Given the description of an element on the screen output the (x, y) to click on. 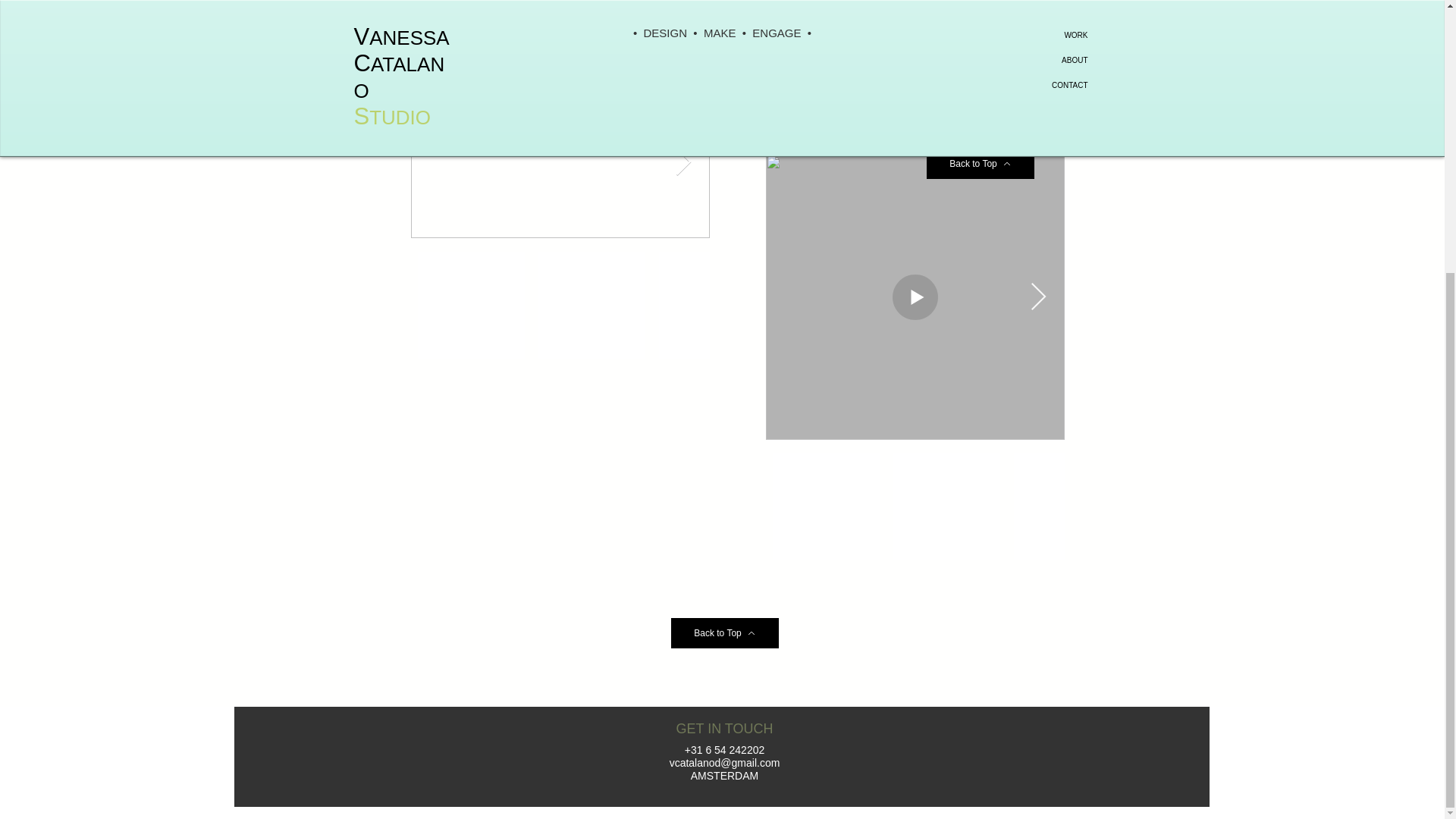
GET IN TOUCH (723, 729)
Back to Top (979, 163)
Back to Top (723, 633)
